Given the description of an element on the screen output the (x, y) to click on. 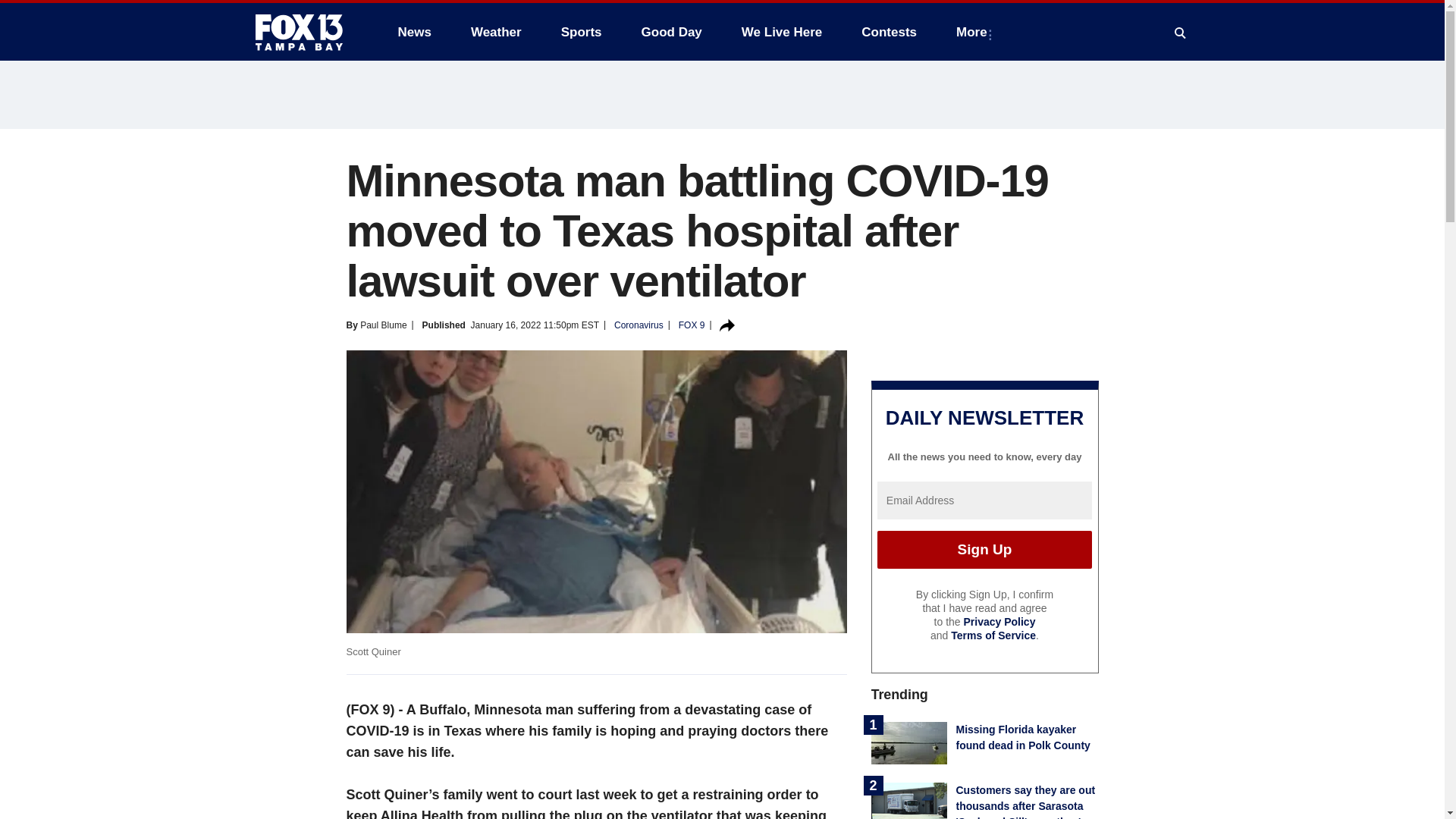
Sports (581, 32)
Weather (496, 32)
News (413, 32)
We Live Here (781, 32)
Sign Up (984, 549)
More (974, 32)
Contests (888, 32)
Good Day (671, 32)
